Given the description of an element on the screen output the (x, y) to click on. 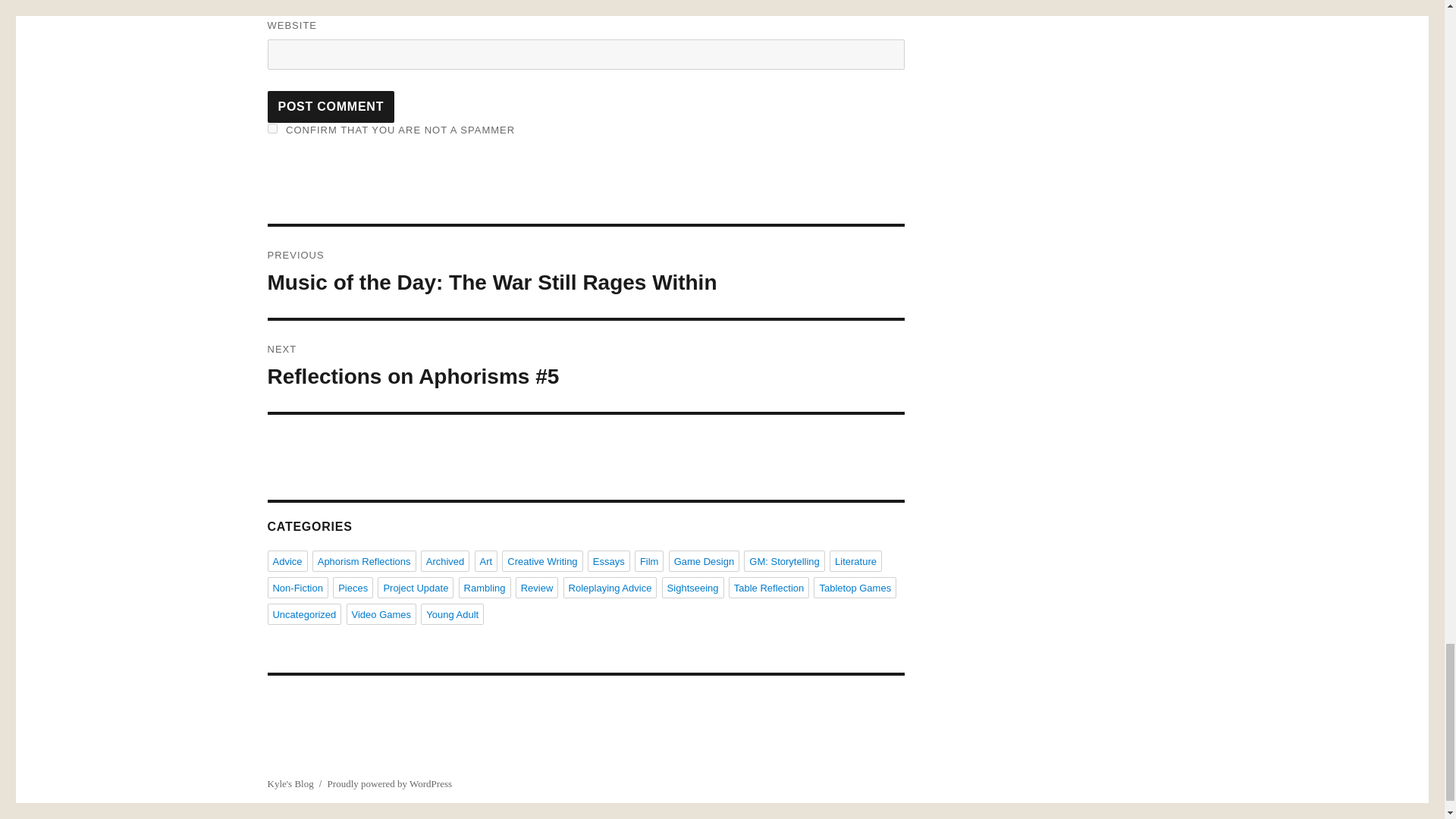
on (271, 128)
Post Comment (330, 106)
Art (485, 560)
Pieces (352, 587)
Project Update (414, 587)
Advice (286, 560)
Literature (855, 560)
GM: Storytelling (784, 560)
Aphorism Reflections (364, 560)
Non-Fiction (296, 587)
